Given the description of an element on the screen output the (x, y) to click on. 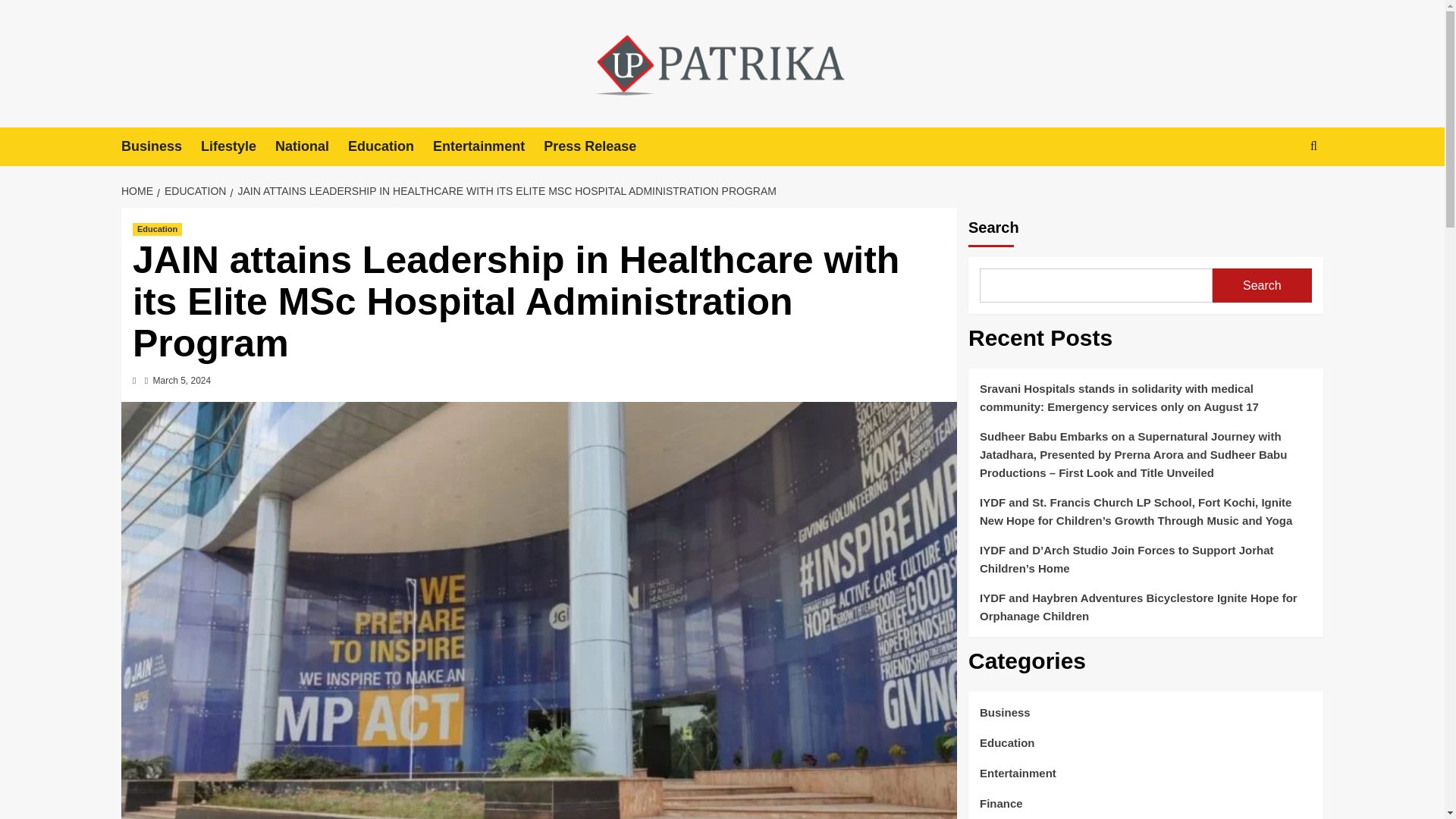
Entertainment (487, 146)
National (311, 146)
Education (157, 228)
EDUCATION (193, 191)
Lifestyle (237, 146)
Education (389, 146)
Business (160, 146)
HOME (138, 191)
Search (1278, 192)
